Given the description of an element on the screen output the (x, y) to click on. 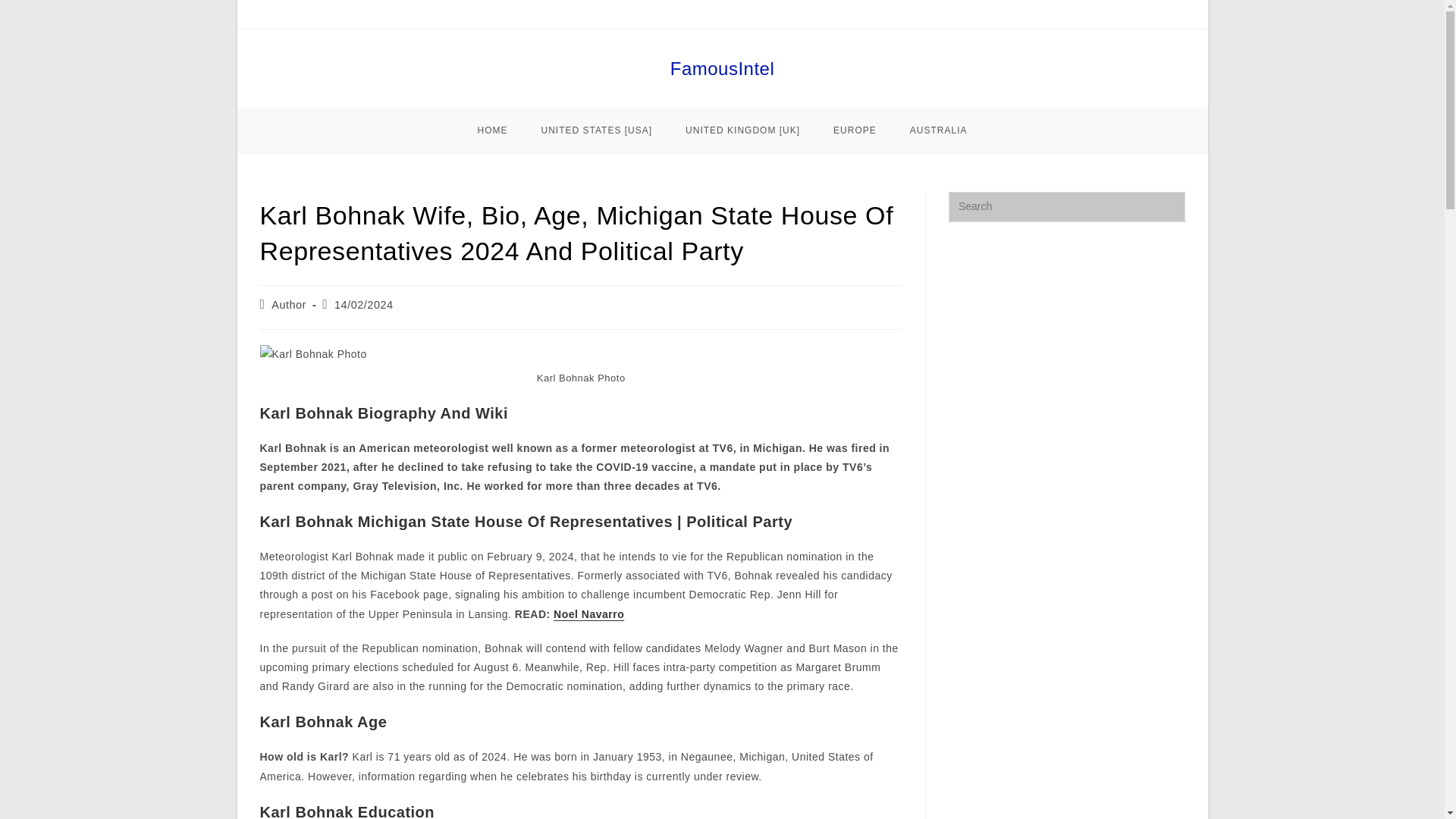
Noel Navarro (588, 613)
EUROPE (854, 130)
Author (287, 304)
FamousIntel (721, 68)
Posts by Author (287, 304)
AUSTRALIA (938, 130)
HOME (492, 130)
